Given the description of an element on the screen output the (x, y) to click on. 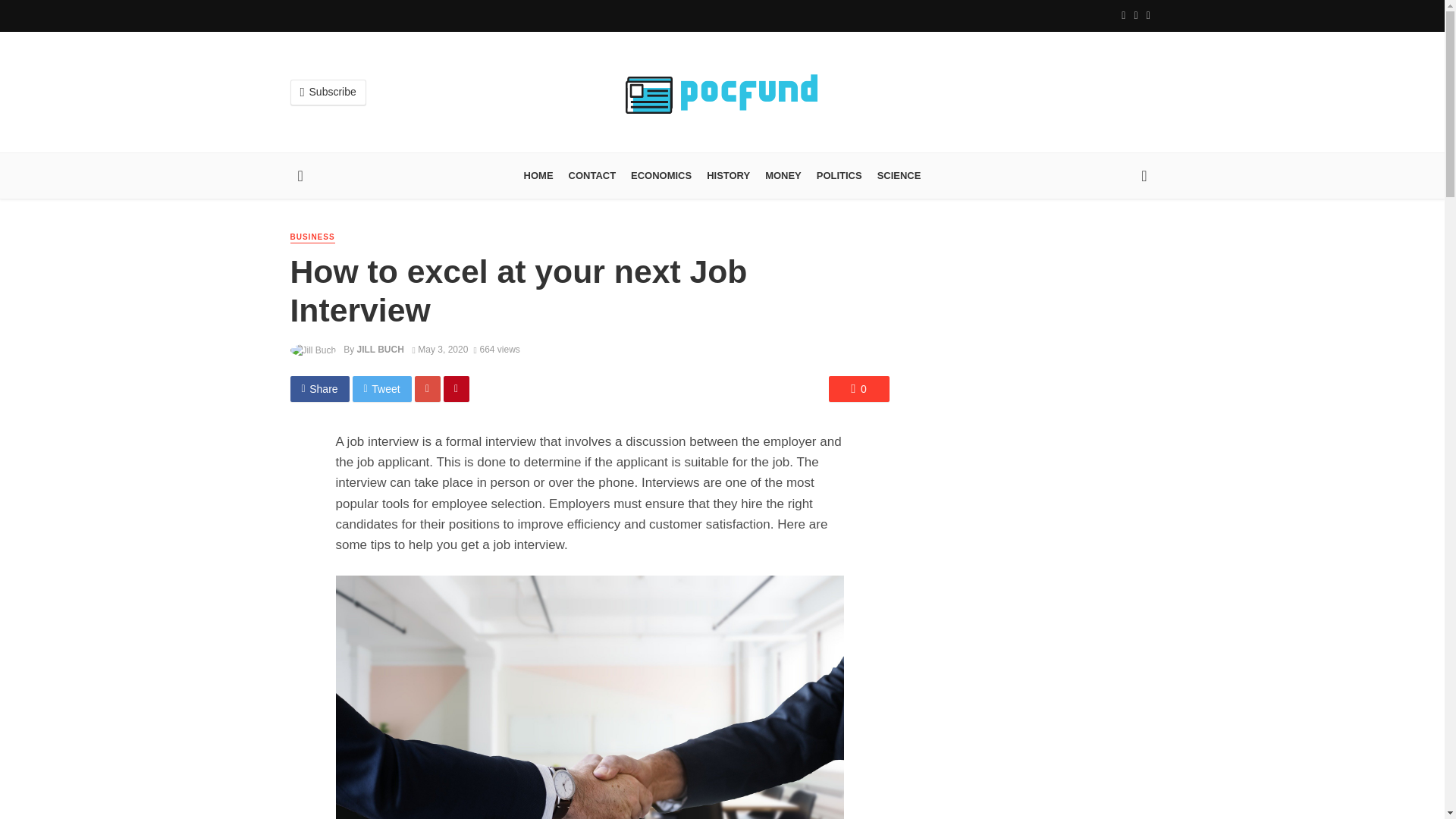
HOME (538, 176)
POLITICS (839, 176)
HISTORY (727, 176)
Share on Pinterest (456, 388)
CONTACT (592, 176)
Share on Facebook (319, 388)
0 (858, 388)
Posts by Jill Buch (379, 348)
Share (319, 388)
Tweet (382, 388)
